Given the description of an element on the screen output the (x, y) to click on. 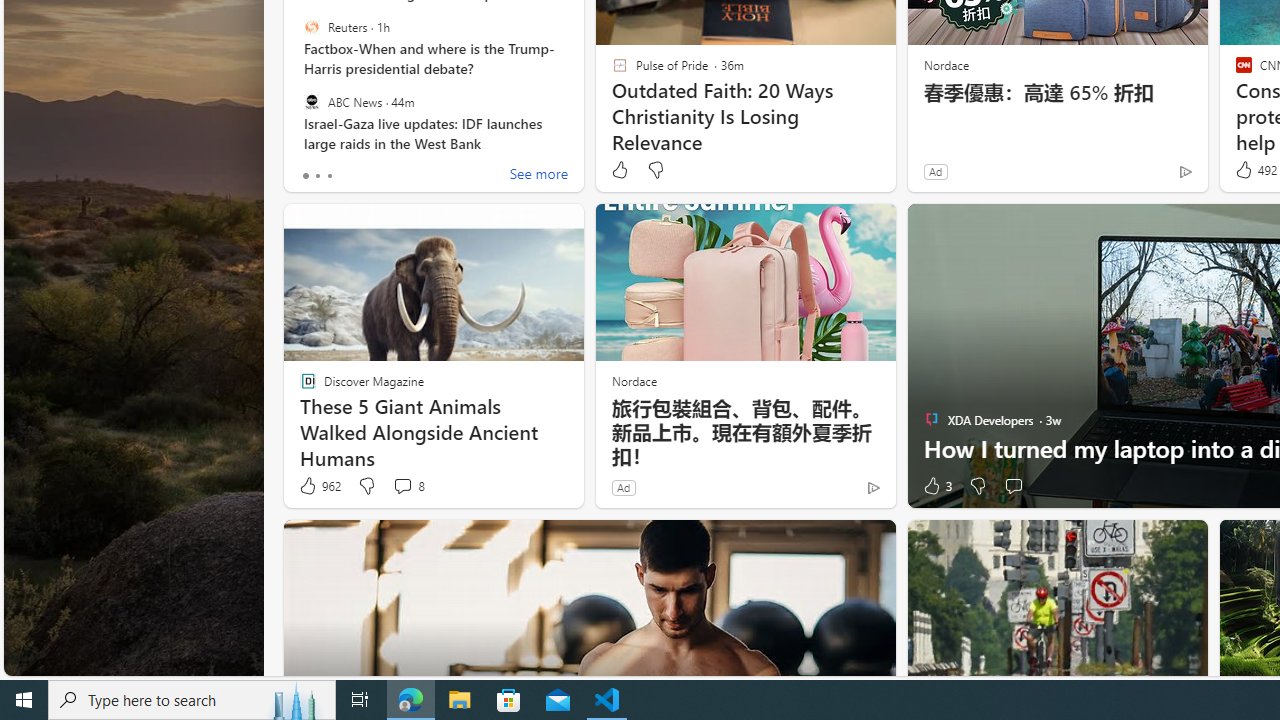
Nordace (633, 380)
962 Like (319, 485)
Reuters (311, 27)
Start the conversation (1012, 485)
tab-2 (328, 175)
3 Like (936, 485)
